Given the description of an element on the screen output the (x, y) to click on. 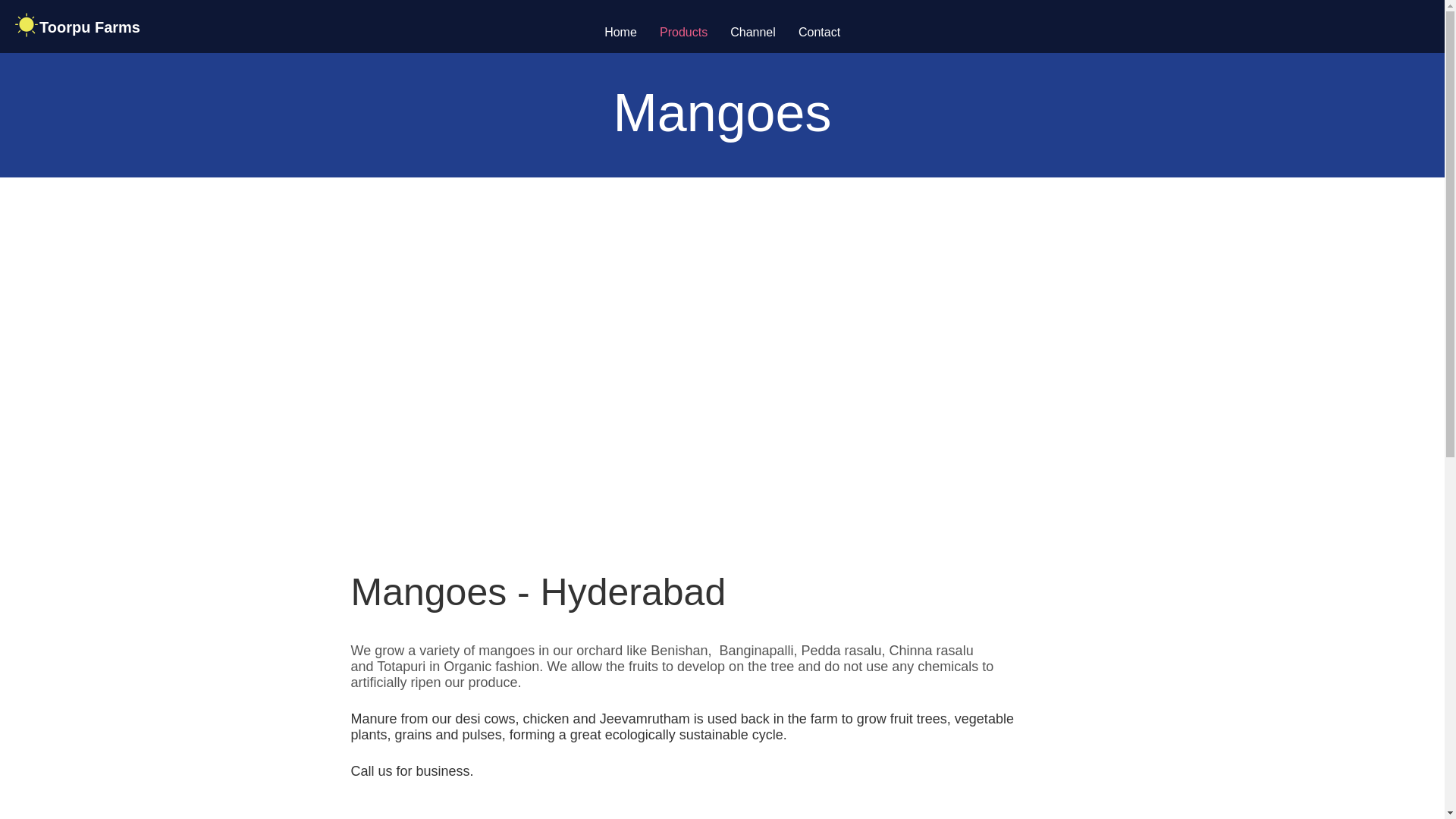
Contact (819, 32)
Home (619, 32)
Toorpu Farms (91, 26)
Products (683, 32)
Channel (753, 32)
